Given the description of an element on the screen output the (x, y) to click on. 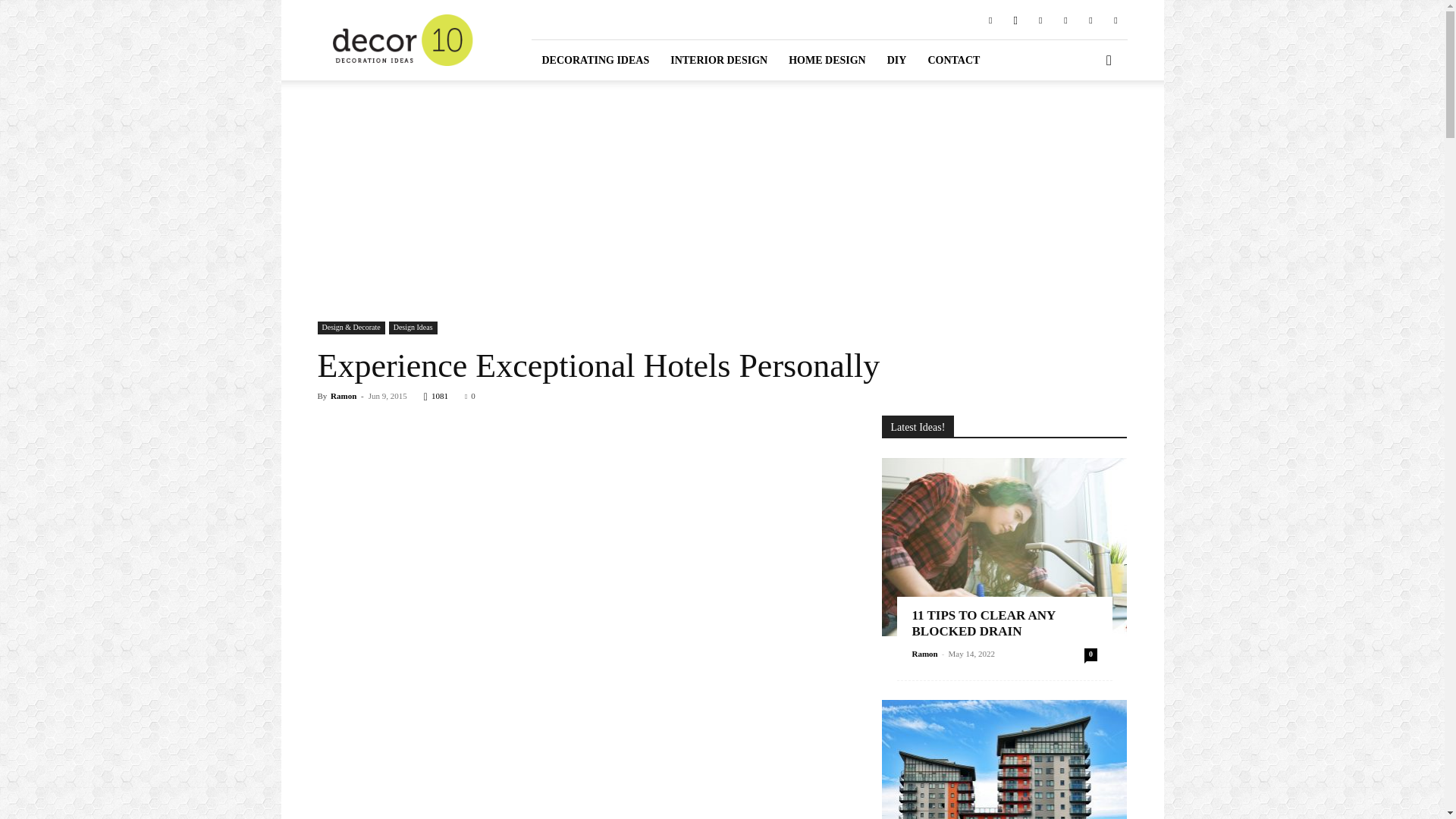
INTERIOR DESIGN (718, 60)
0 (470, 395)
Ramon (343, 395)
Instagram (1015, 19)
Search (1085, 122)
Pinterest (1040, 19)
Facebook (989, 19)
Twitter (1090, 19)
DECORATING IDEAS (595, 60)
